Given the description of an element on the screen output the (x, y) to click on. 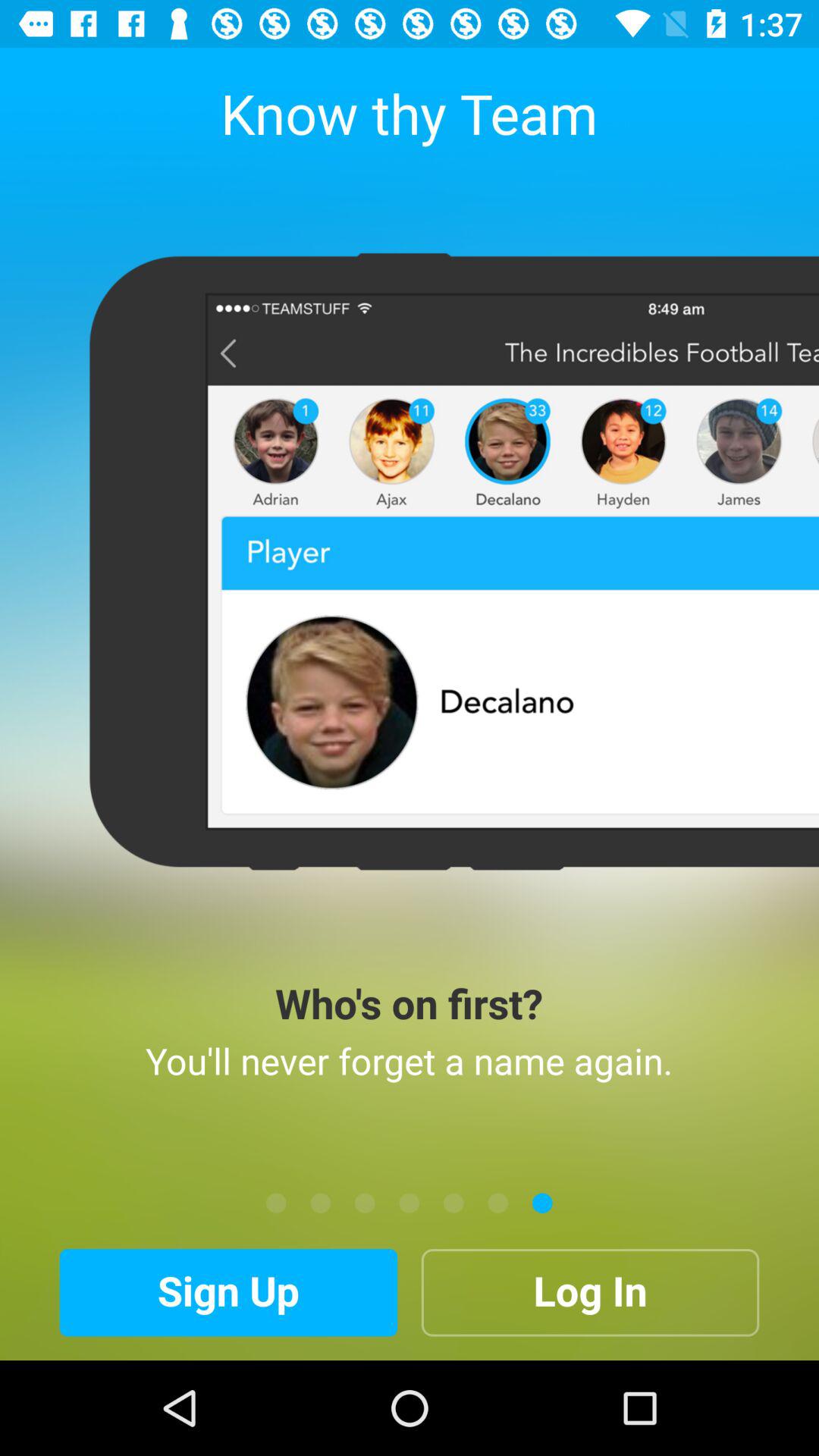
click the icon next to log in item (228, 1292)
